Given the description of an element on the screen output the (x, y) to click on. 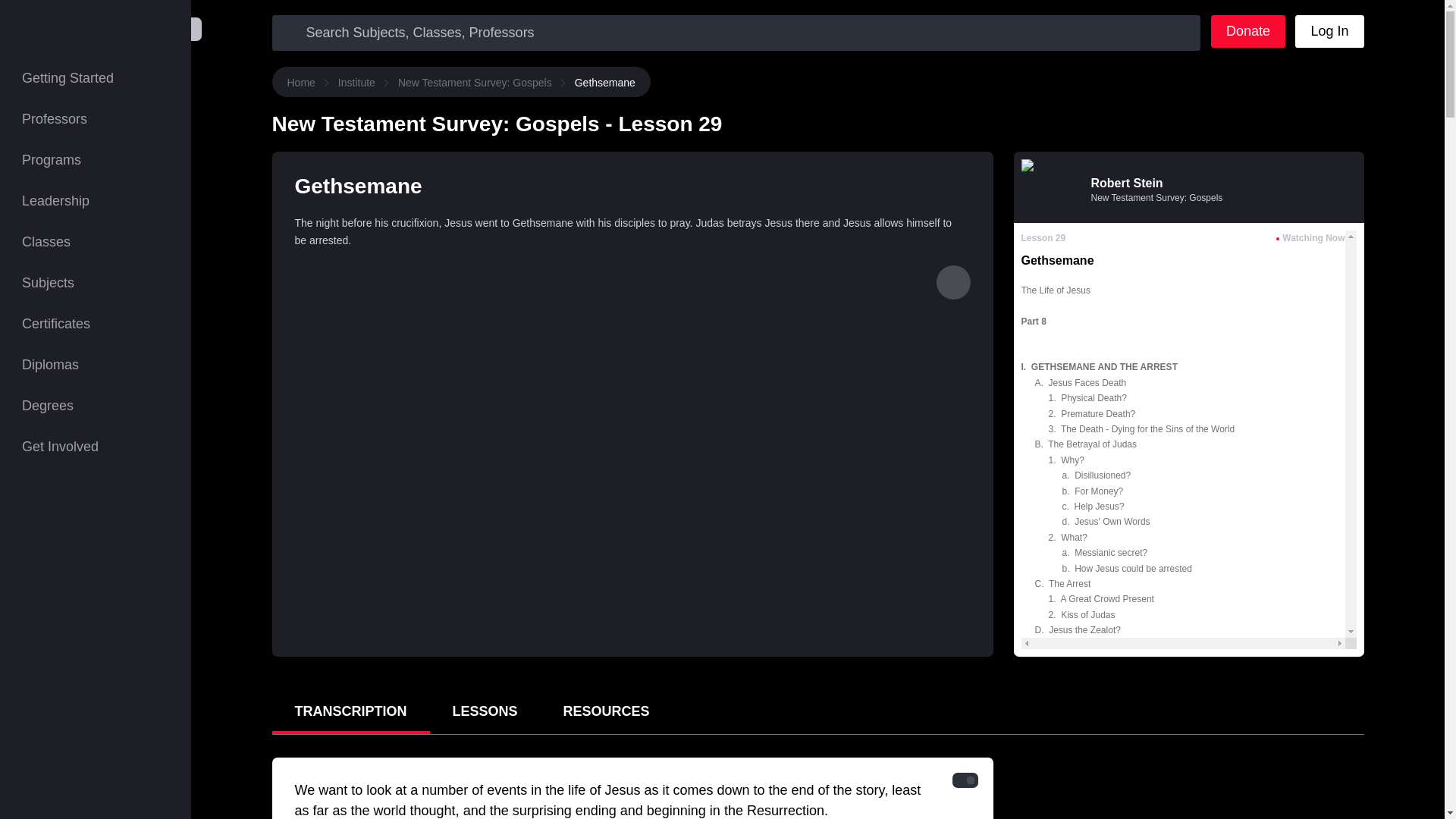
Subjects (95, 282)
Degrees (95, 404)
Light Mode (970, 779)
Robert Stein (1125, 182)
Diplomas (95, 363)
Get Involved (95, 445)
 Gospels (952, 282)
Professors (95, 118)
Leadership (95, 200)
Certificates (95, 323)
